Given the description of an element on the screen output the (x, y) to click on. 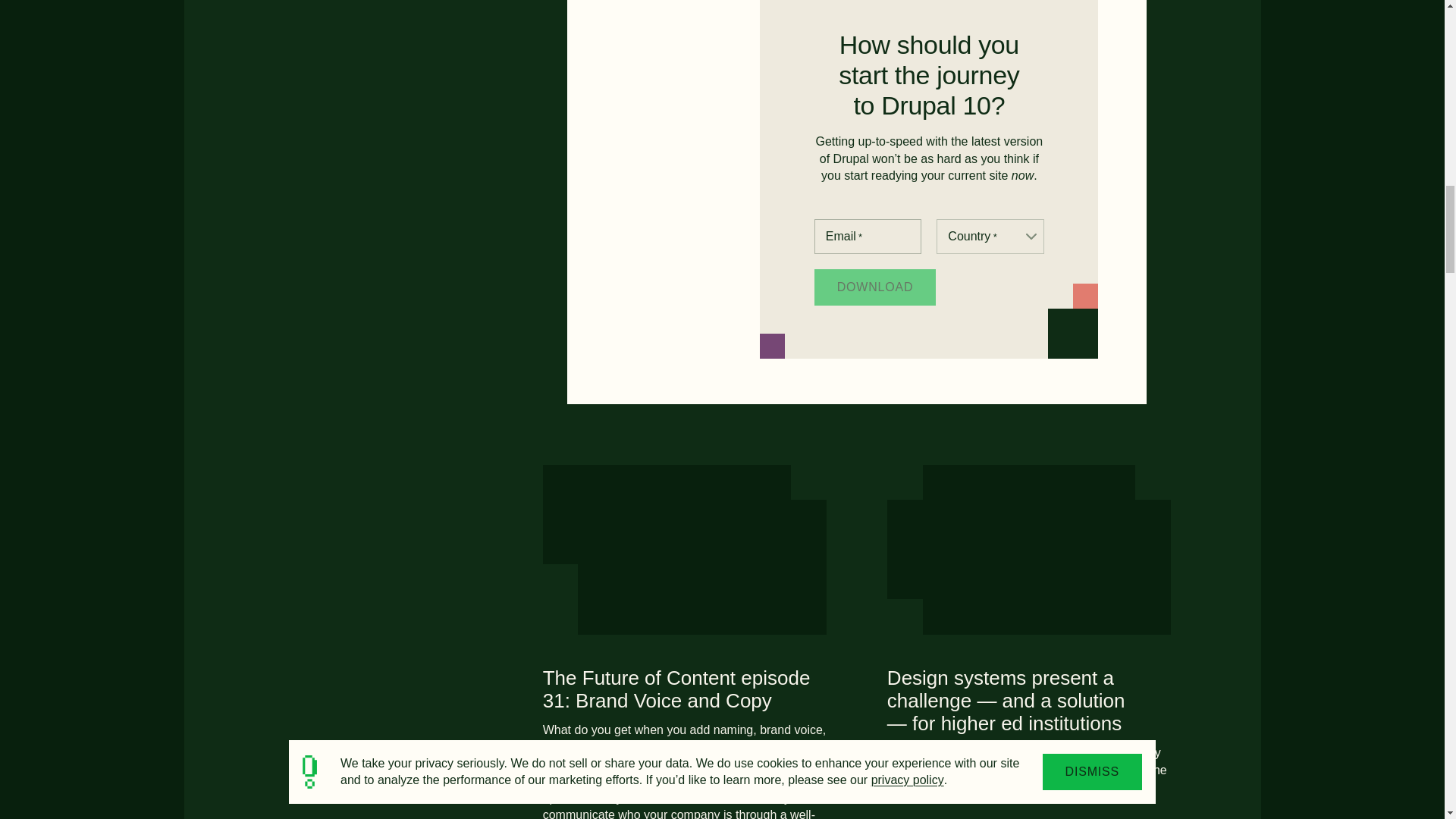
Download (874, 287)
Download (874, 287)
